Given the description of an element on the screen output the (x, y) to click on. 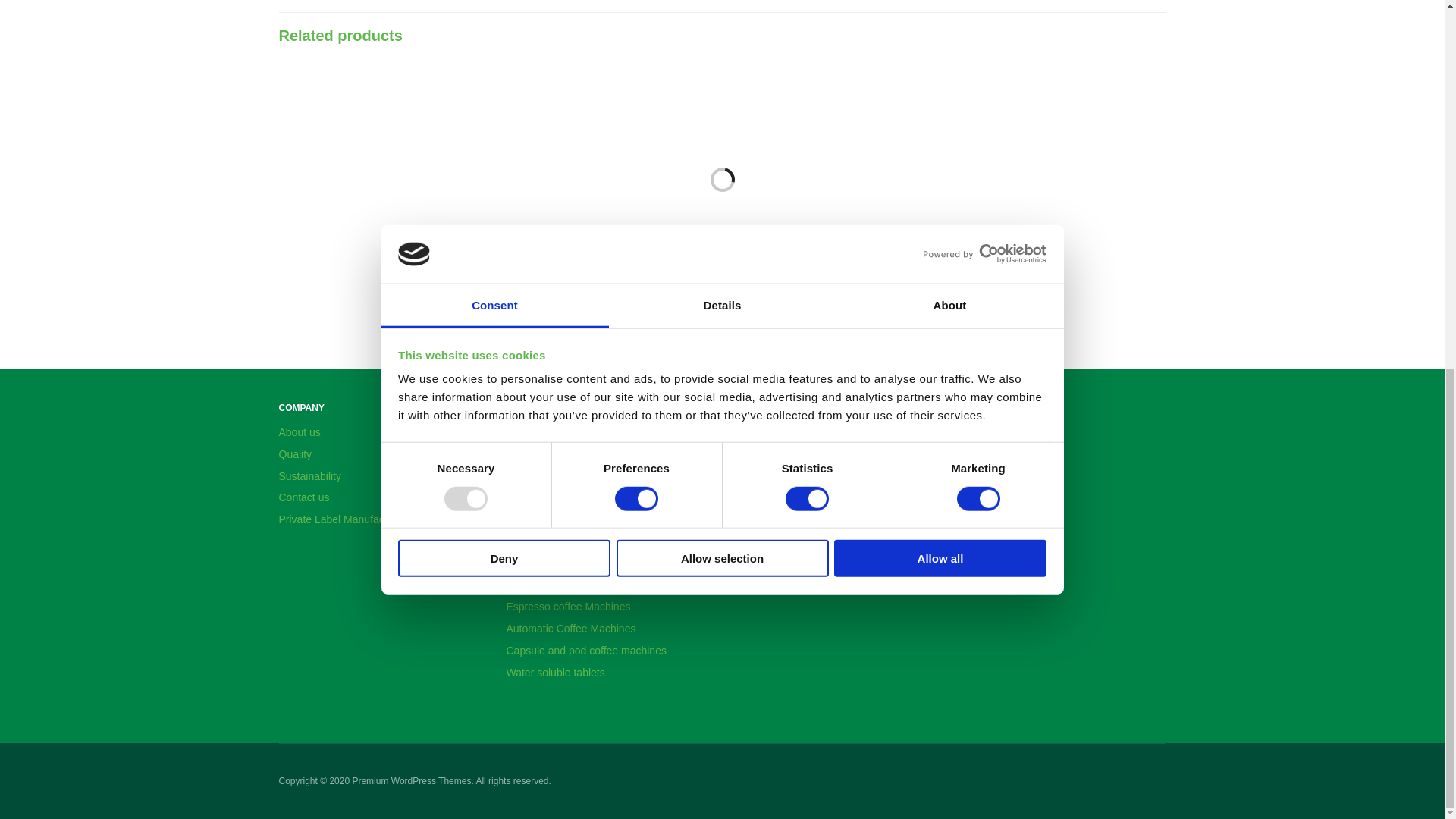
K-KAL (836, 168)
K-SOL (608, 168)
K-SOL (523, 293)
K-KAL (750, 293)
DB17 (381, 168)
DB17 (293, 293)
